Given the description of an element on the screen output the (x, y) to click on. 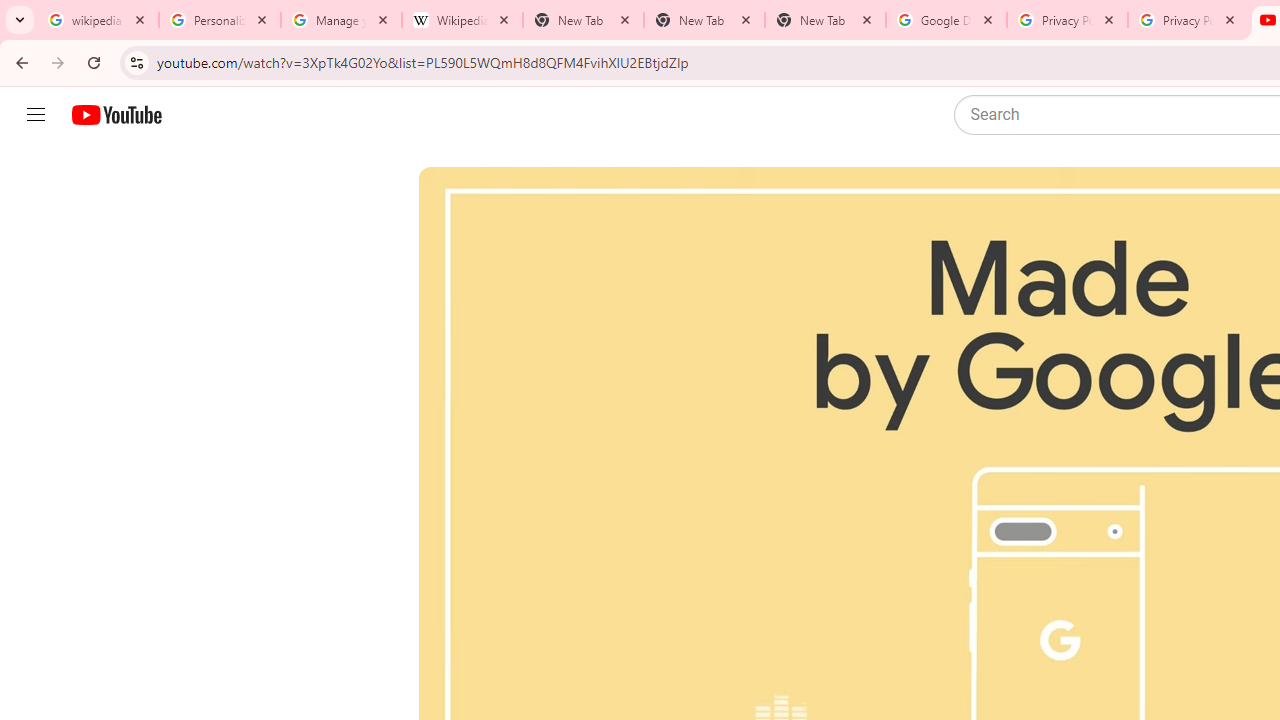
New Tab (825, 20)
Google Drive: Sign-in (946, 20)
Guide (35, 115)
Wikipedia:Edit requests - Wikipedia (462, 20)
New Tab (704, 20)
Personalization & Google Search results - Google Search Help (219, 20)
